Given the description of an element on the screen output the (x, y) to click on. 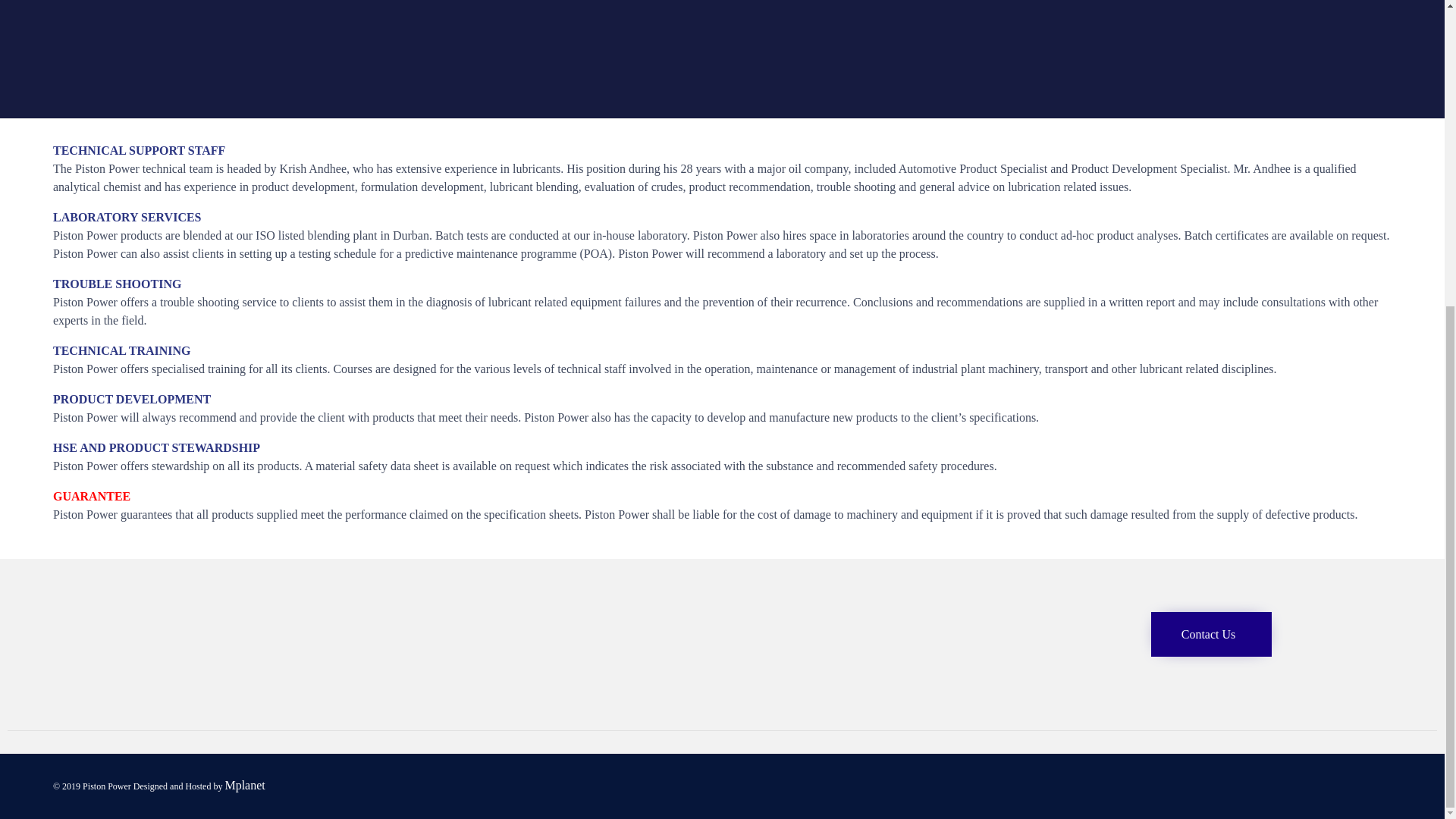
logo (215, 655)
logo (215, 695)
